Given the description of an element on the screen output the (x, y) to click on. 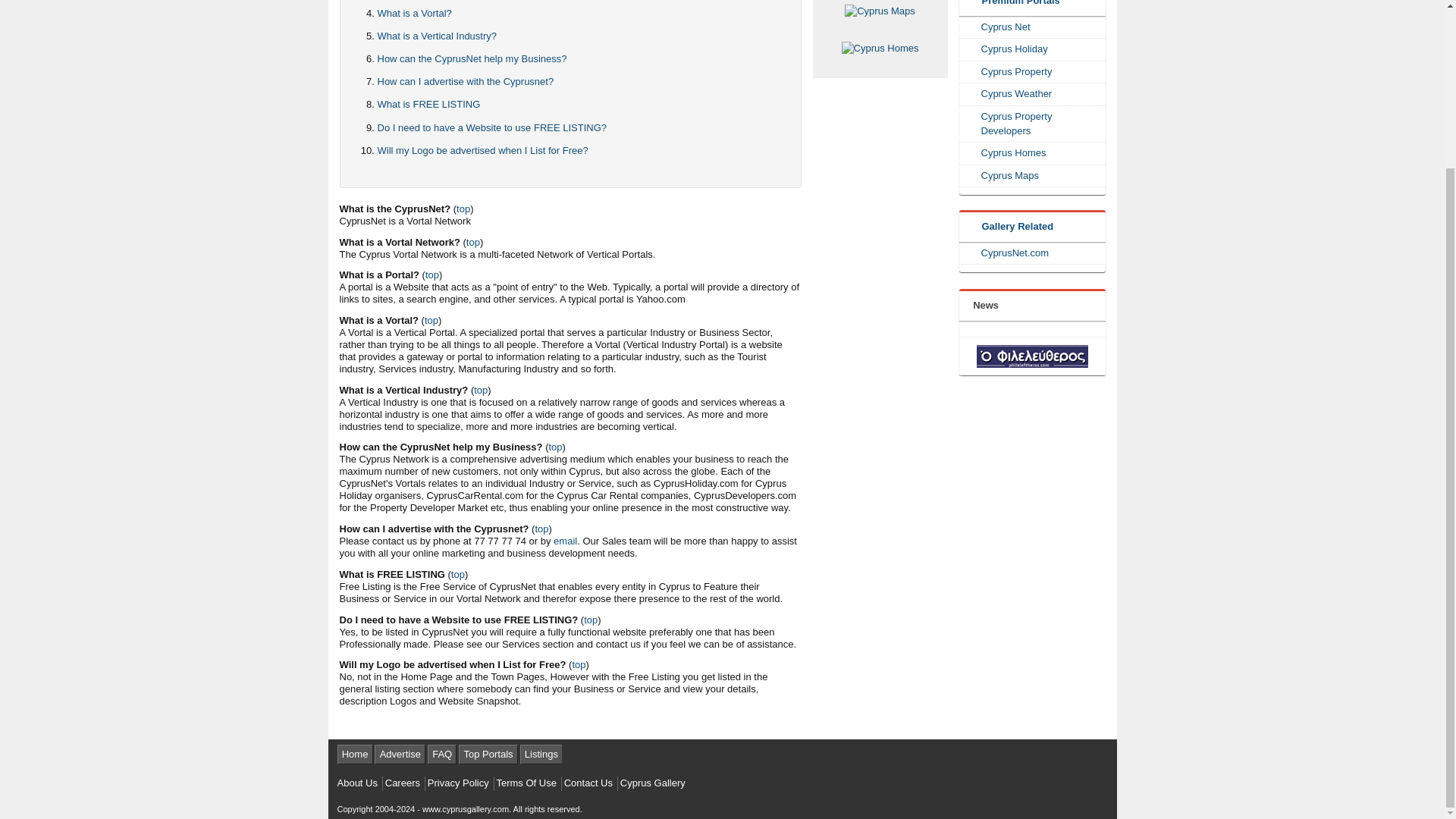
Will my Logo be advertised when I List for Free? (482, 150)
top (472, 242)
Cyprus Property (1034, 72)
top (463, 208)
What is a Vertical Industry? (437, 35)
Premium Portals (1012, 4)
What is a Vortal? (414, 12)
Cyprus Net (1034, 27)
Cyprus Property Developers (1034, 123)
What is FREE LISTING (428, 103)
top (432, 274)
How can the CyprusNet help my Business? (472, 58)
Cyprus Weather (1034, 93)
Do I need to have a Website to use FREE LISTING? (492, 127)
top (480, 389)
